Given the description of an element on the screen output the (x, y) to click on. 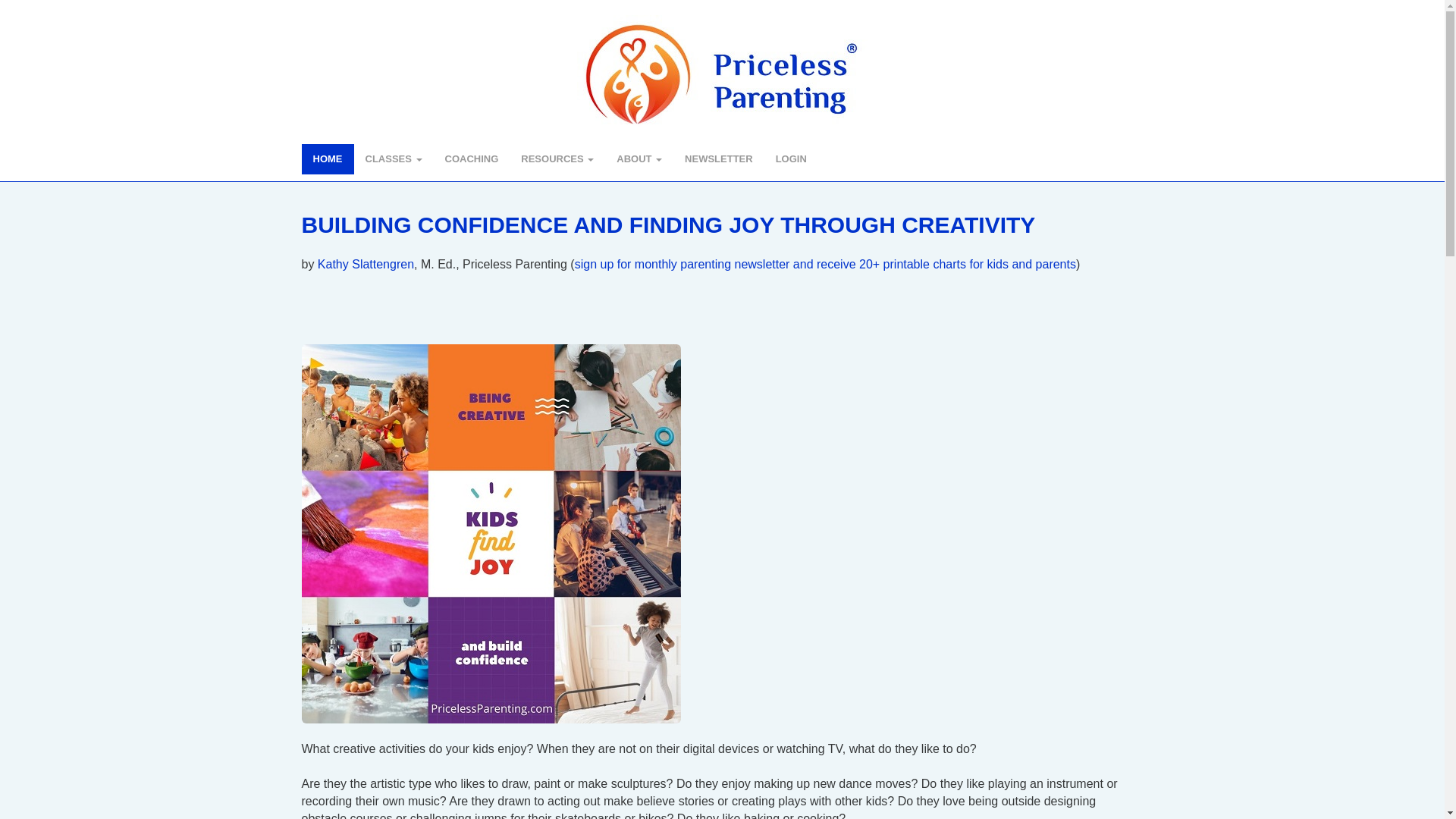
LOGIN      (797, 159)
CLASSES (392, 159)
NEWSLETTER (718, 159)
COACHING (472, 159)
RESOURCES (557, 159)
HOME (327, 159)
Kathy Slattengren (365, 264)
ABOUT (638, 159)
